Given the description of an element on the screen output the (x, y) to click on. 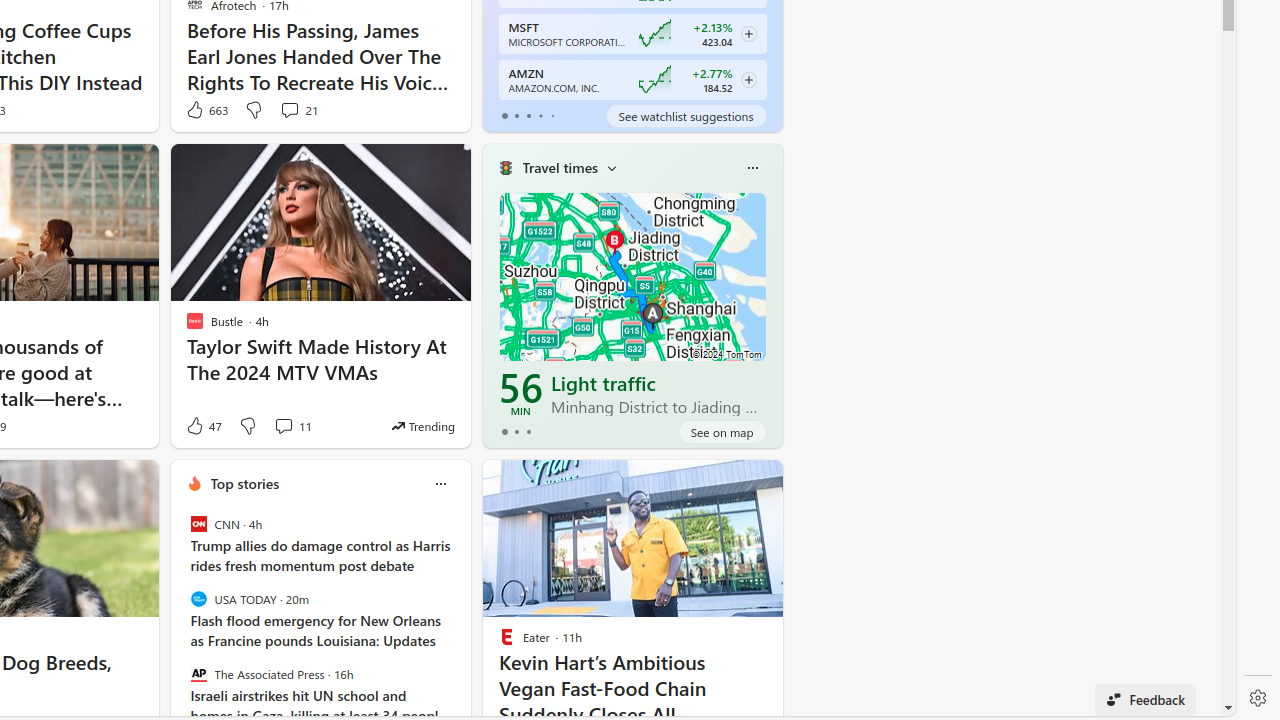
Privacy & Cookies Element type: link (775, 703)
56 MIN Element type: link (521, 393)
Light traffic Minhang District to Jiading District Element type: link (659, 393)
See more Element type: push-button (758, 484)
47 Like Element type: toggle-button (203, 426)
